Given the description of an element on the screen output the (x, y) to click on. 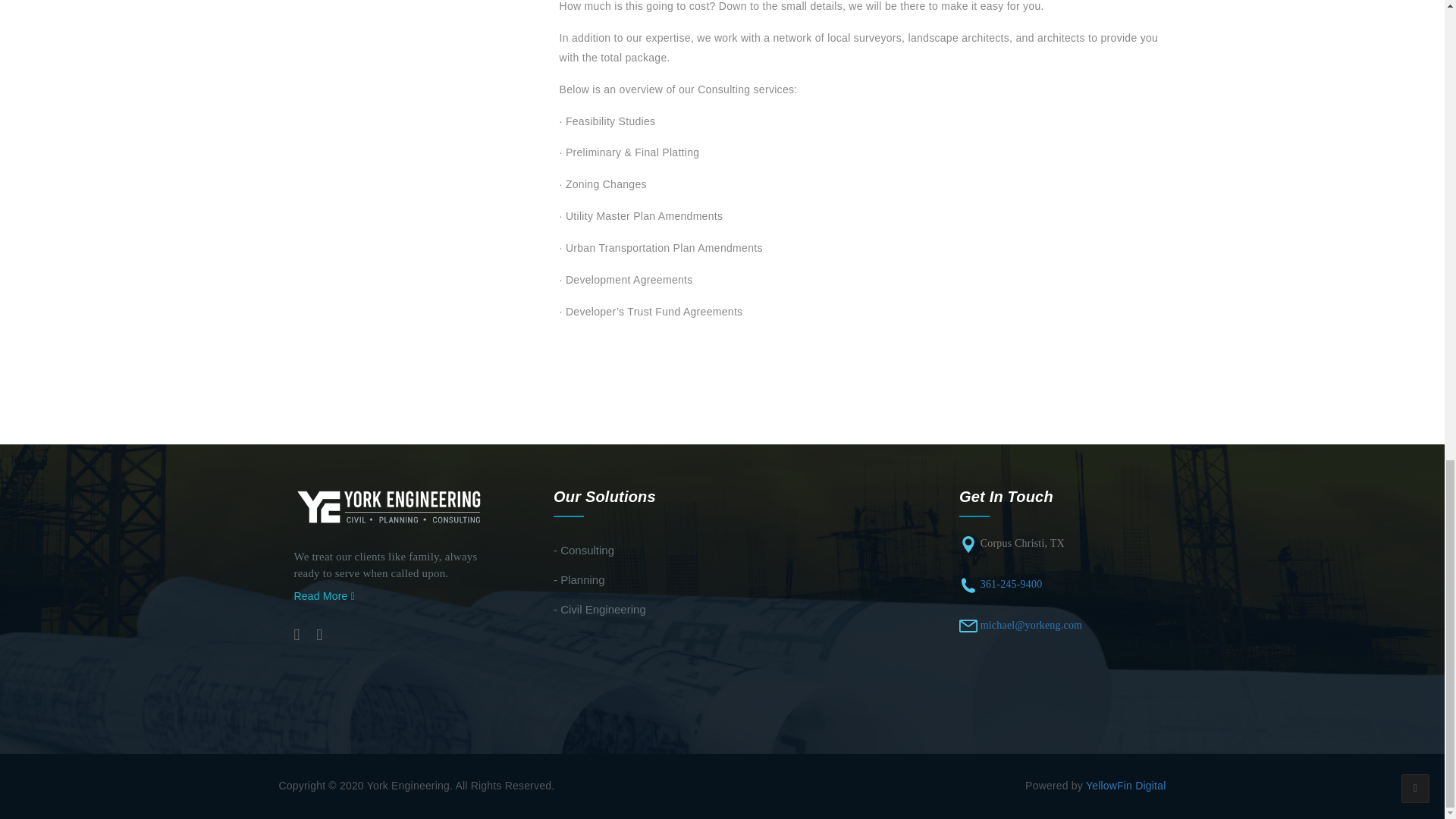
York Engineering (390, 506)
- Planning (579, 579)
361-245-9400 (1010, 584)
- Consulting (583, 549)
Read More (324, 595)
- Civil Engineering (599, 608)
YellowFin Digital (1126, 785)
